Given the description of an element on the screen output the (x, y) to click on. 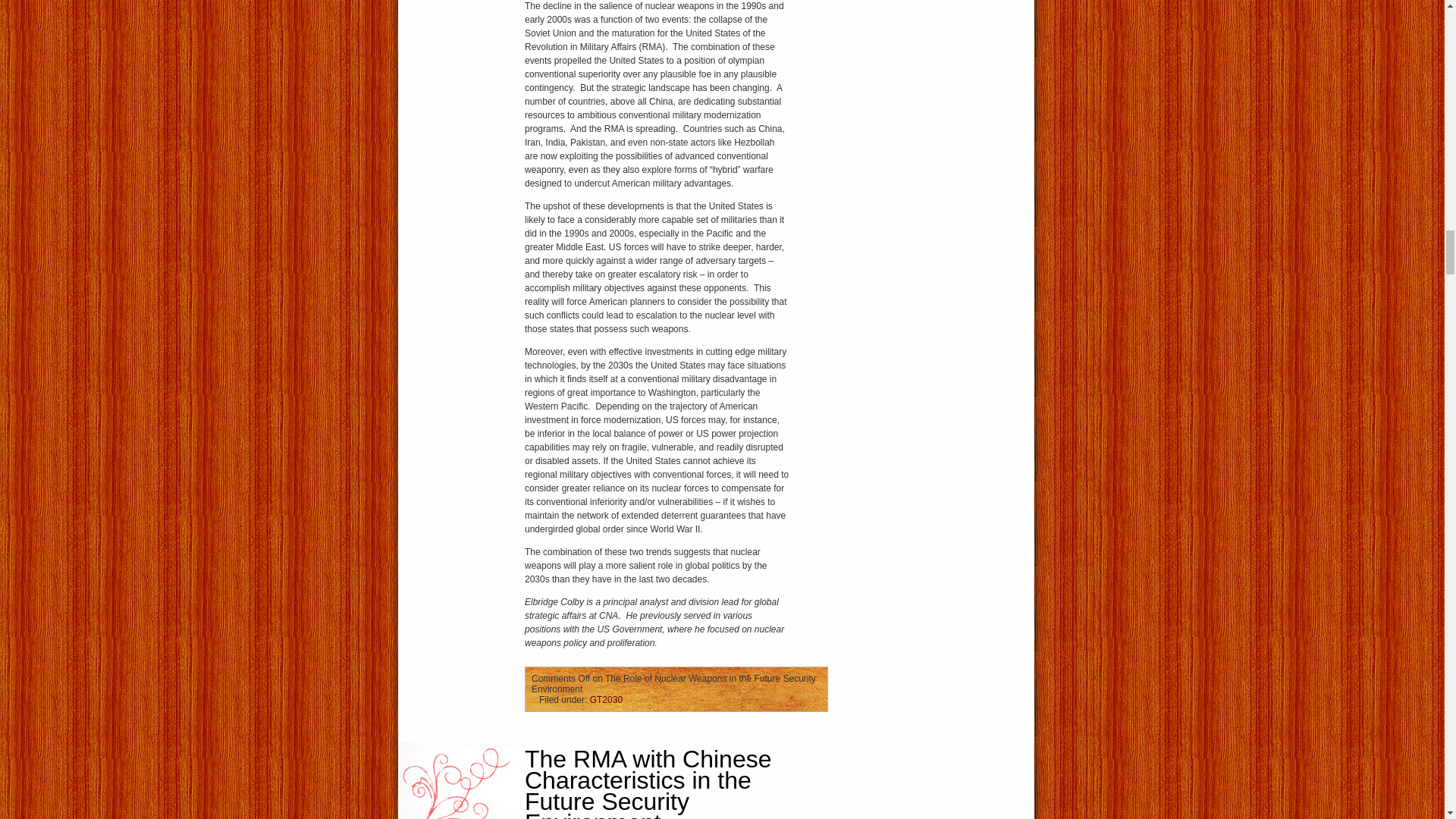
GT2030 (606, 699)
